Given the description of an element on the screen output the (x, y) to click on. 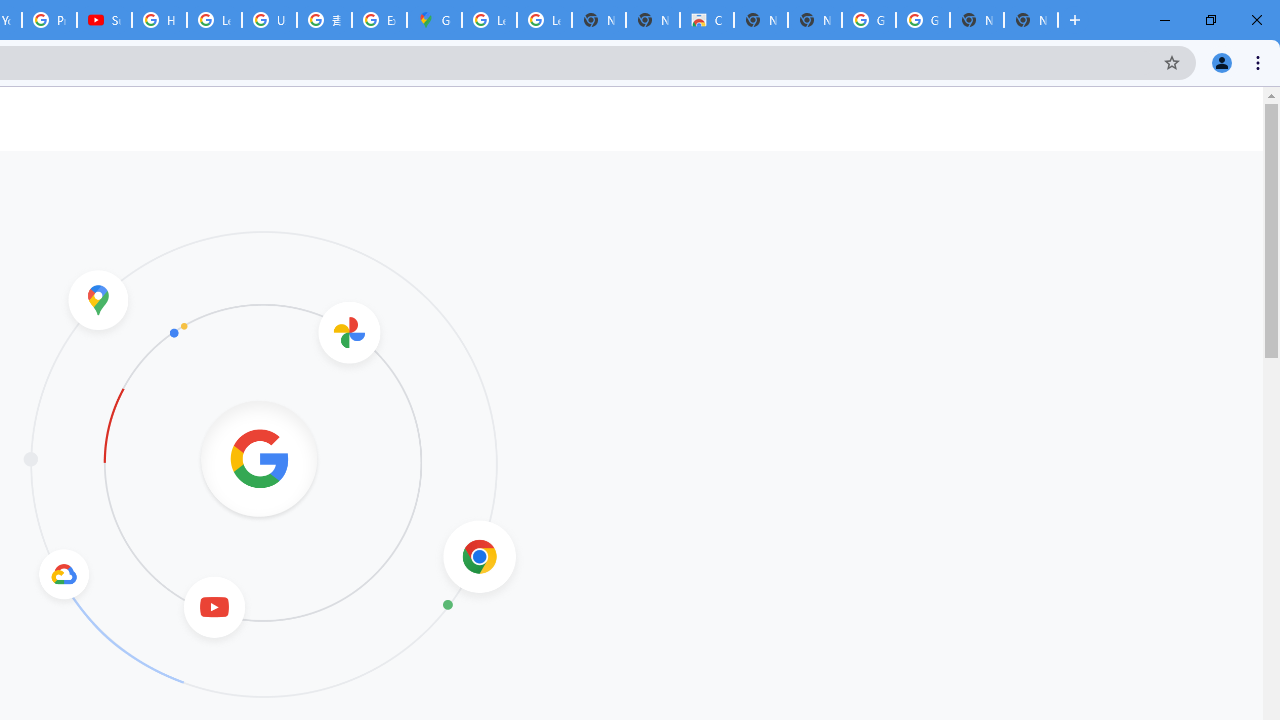
Google Images (922, 20)
New Tab (1030, 20)
